Given the description of an element on the screen output the (x, y) to click on. 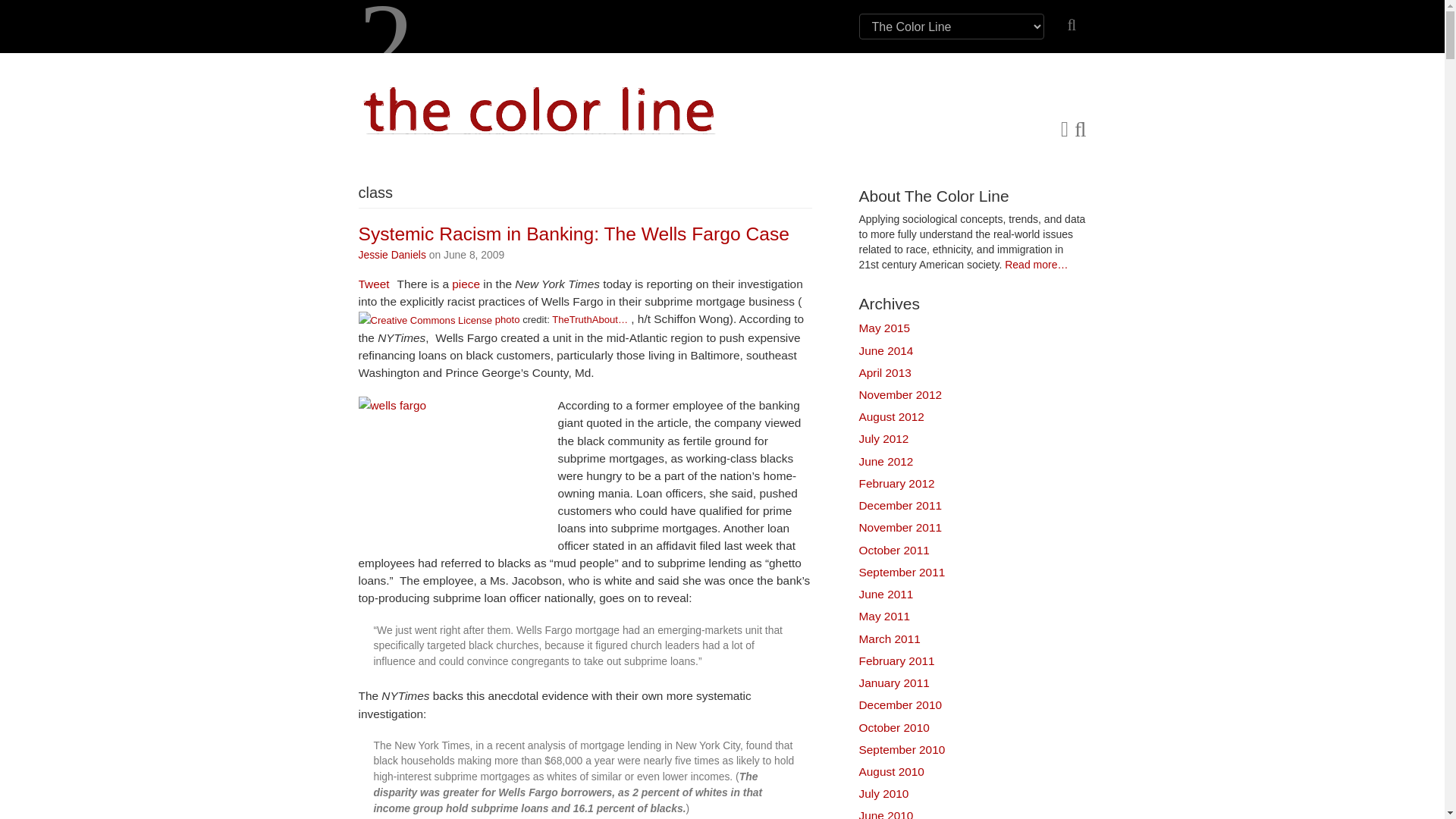
May 2015 (884, 327)
March 2011 (889, 638)
Jessie Daniels (391, 254)
November 2012 (900, 394)
April 2013 (885, 372)
October 2011 (893, 549)
June 2012 (885, 461)
Attribution-ShareAlike License (425, 319)
July 2012 (883, 438)
Tweet (373, 283)
